Given the description of an element on the screen output the (x, y) to click on. 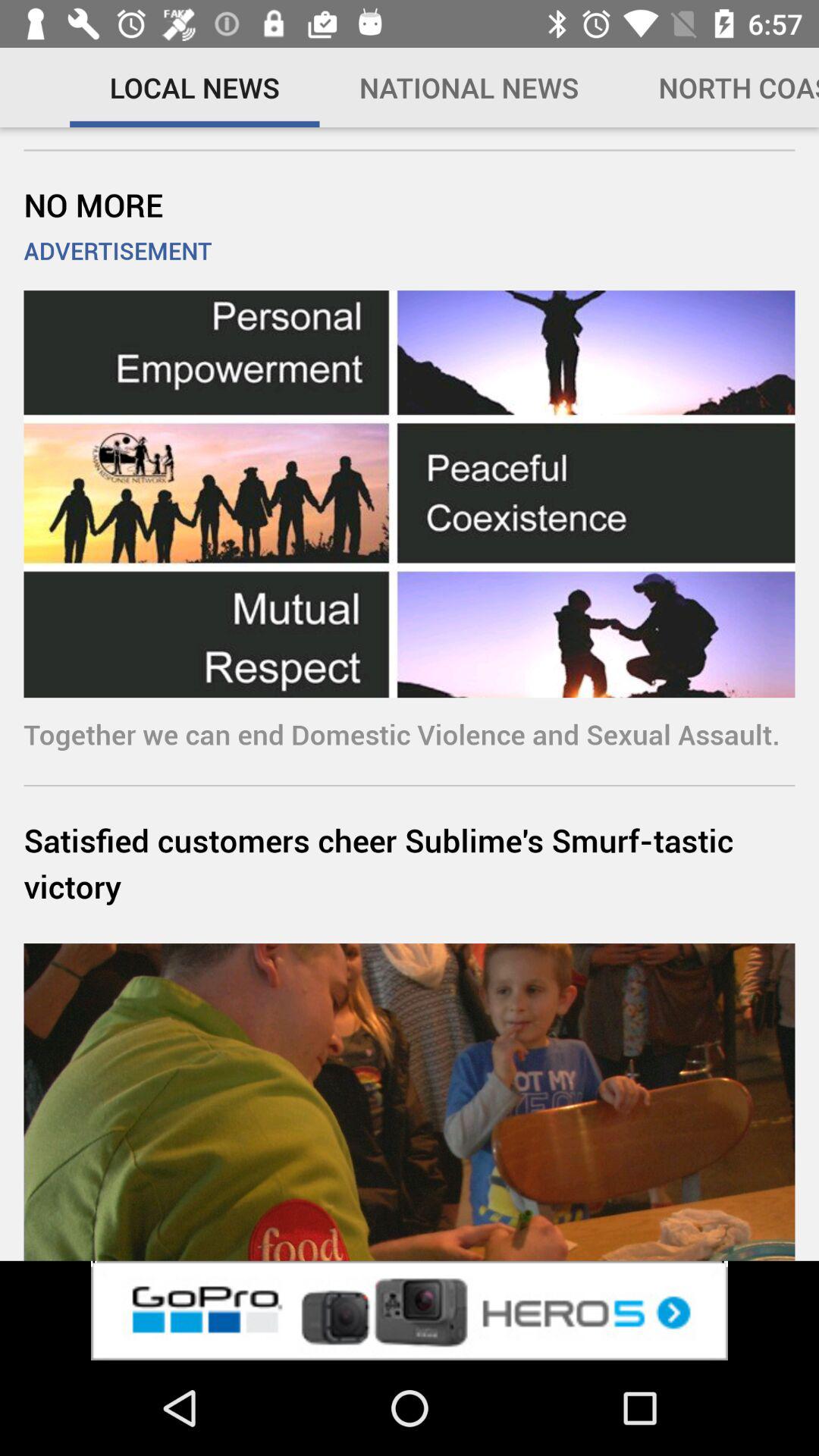
look at the advertisement (409, 1310)
